Given the description of an element on the screen output the (x, y) to click on. 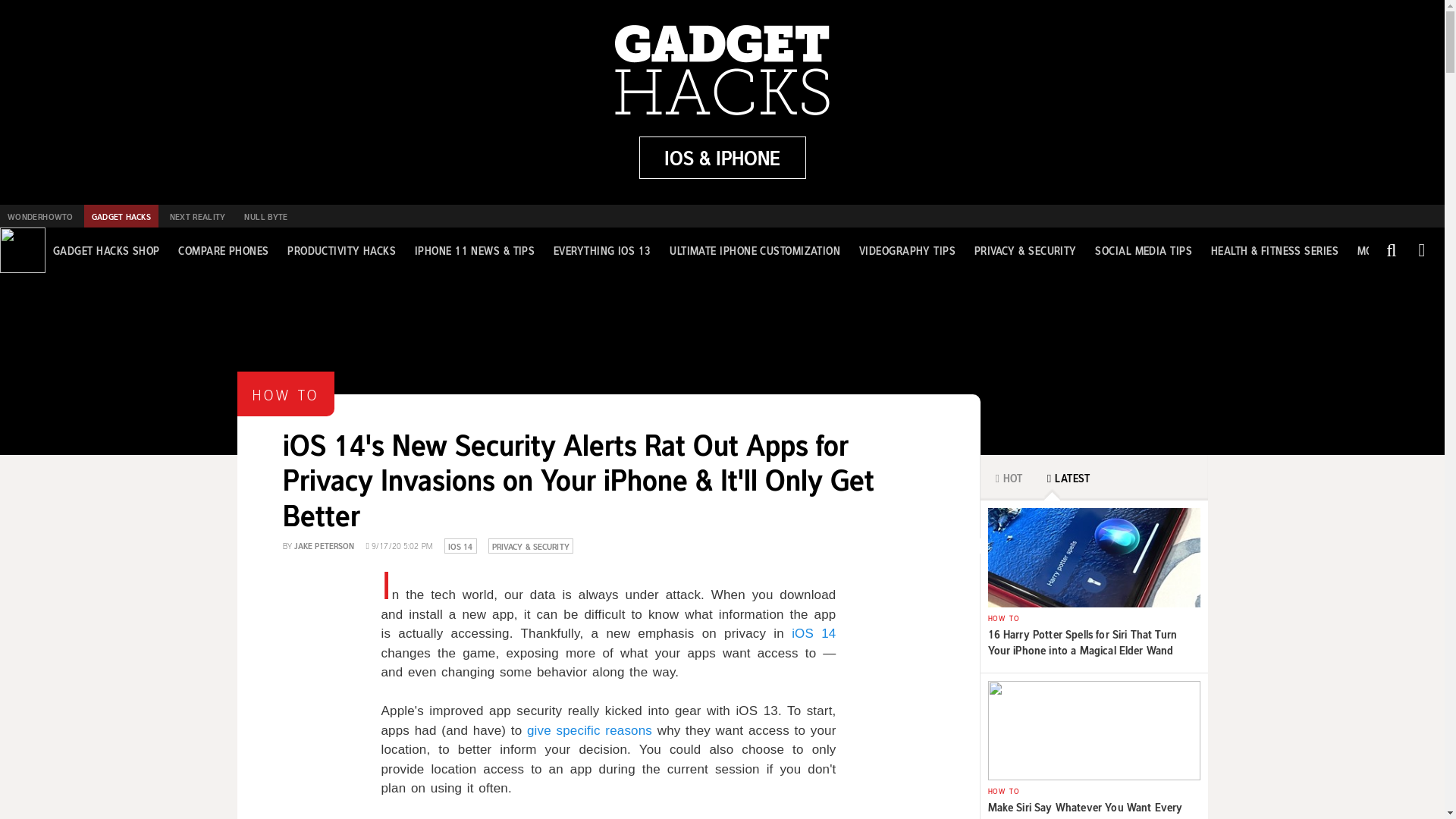
EVERYTHING IOS 13 (601, 249)
JAKE PETERSON (324, 544)
PRODUCTIVITY HACKS (341, 249)
WONDERHOWTO (40, 215)
GADGET HACKS SHOP (106, 249)
Unchaining your iPhone with simple apps, tweaks, and hacks. (722, 157)
COMPARE PHONES (222, 249)
give specific reasons (589, 730)
iOS 14 (813, 633)
SOCIAL MEDIA TIPS (1143, 249)
